Given the description of an element on the screen output the (x, y) to click on. 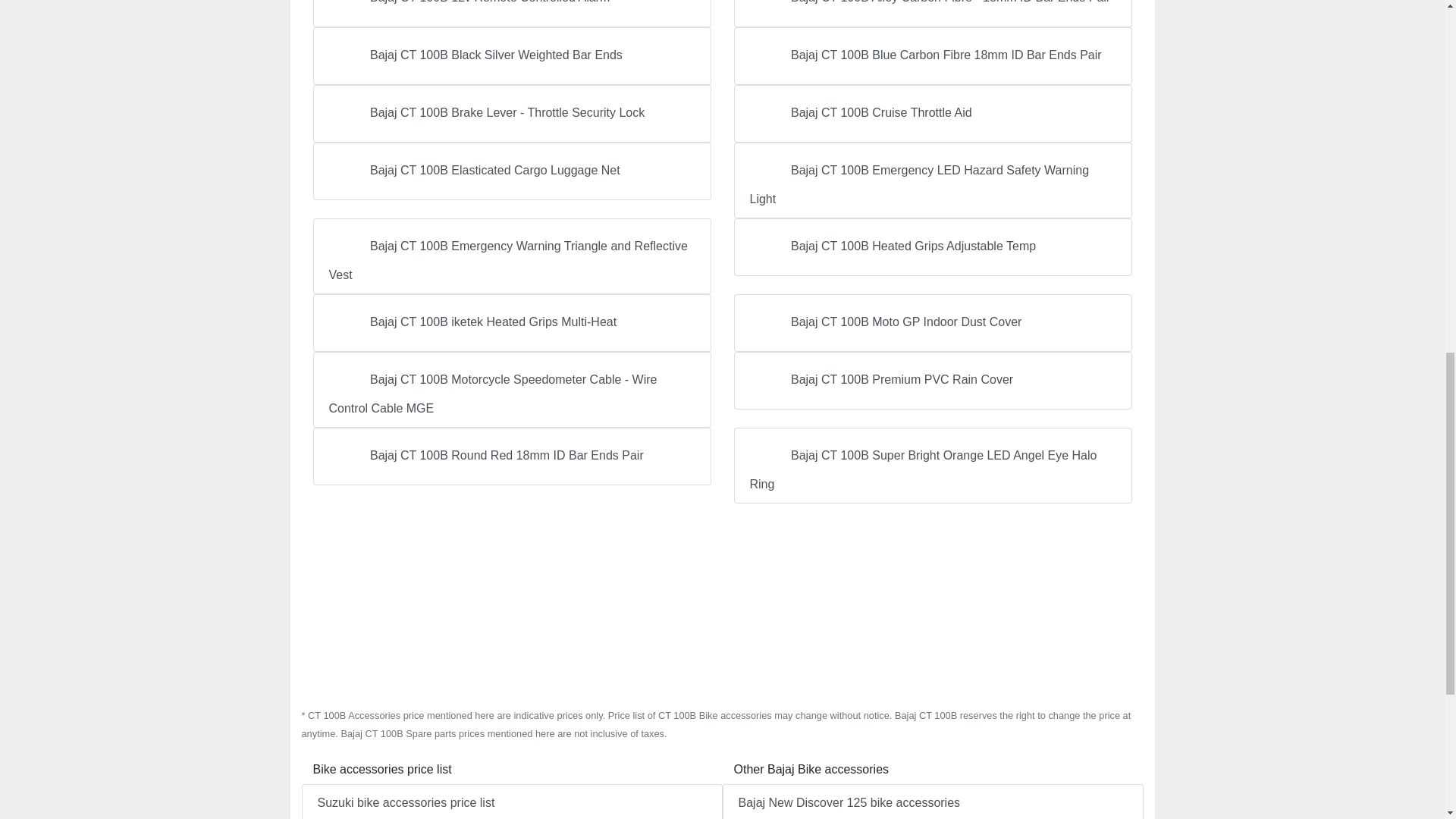
Suzuki bike accessories price list (511, 801)
Bajaj CT 100B Brake Lever - Throttle Security Lock (511, 113)
Bajaj CT 100B Emergency Warning Triangle and Reflective Vest (511, 256)
Bajaj CT 100B iketek Heated Grips Multi-Heat (511, 323)
Bajaj CT 100B Super Bright Orange LED Angel Eye Halo Ring (932, 465)
Bajaj New Discover 125 bike accessories (932, 801)
Bajaj CT 100B Round Red 18mm ID Bar Ends Pair (511, 456)
Advertisement (721, 606)
Bajaj CT 100B Cruise Throttle Aid (932, 113)
